Given the description of an element on the screen output the (x, y) to click on. 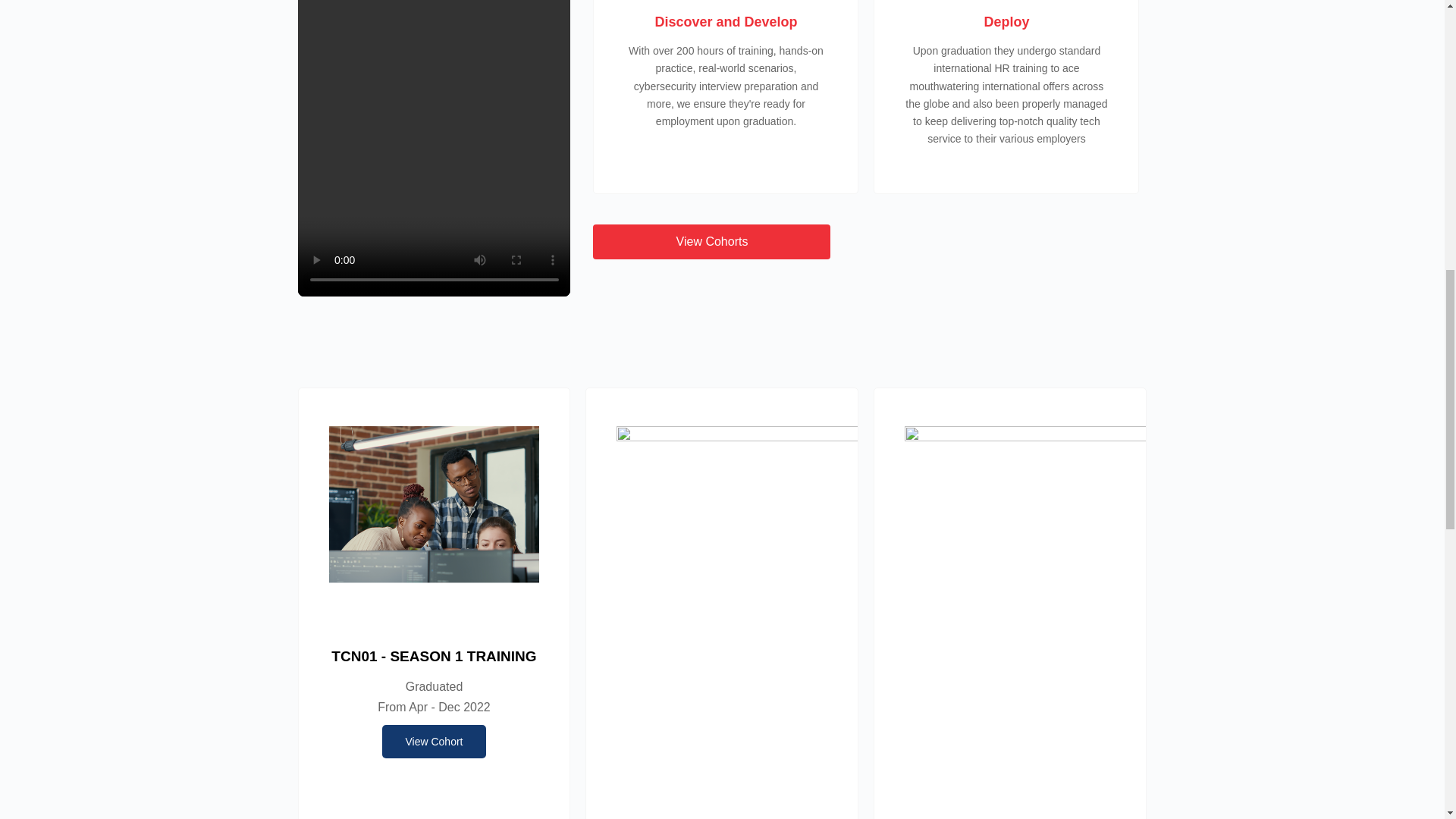
View Cohorts (710, 241)
View Cohort (432, 741)
